Given the description of an element on the screen output the (x, y) to click on. 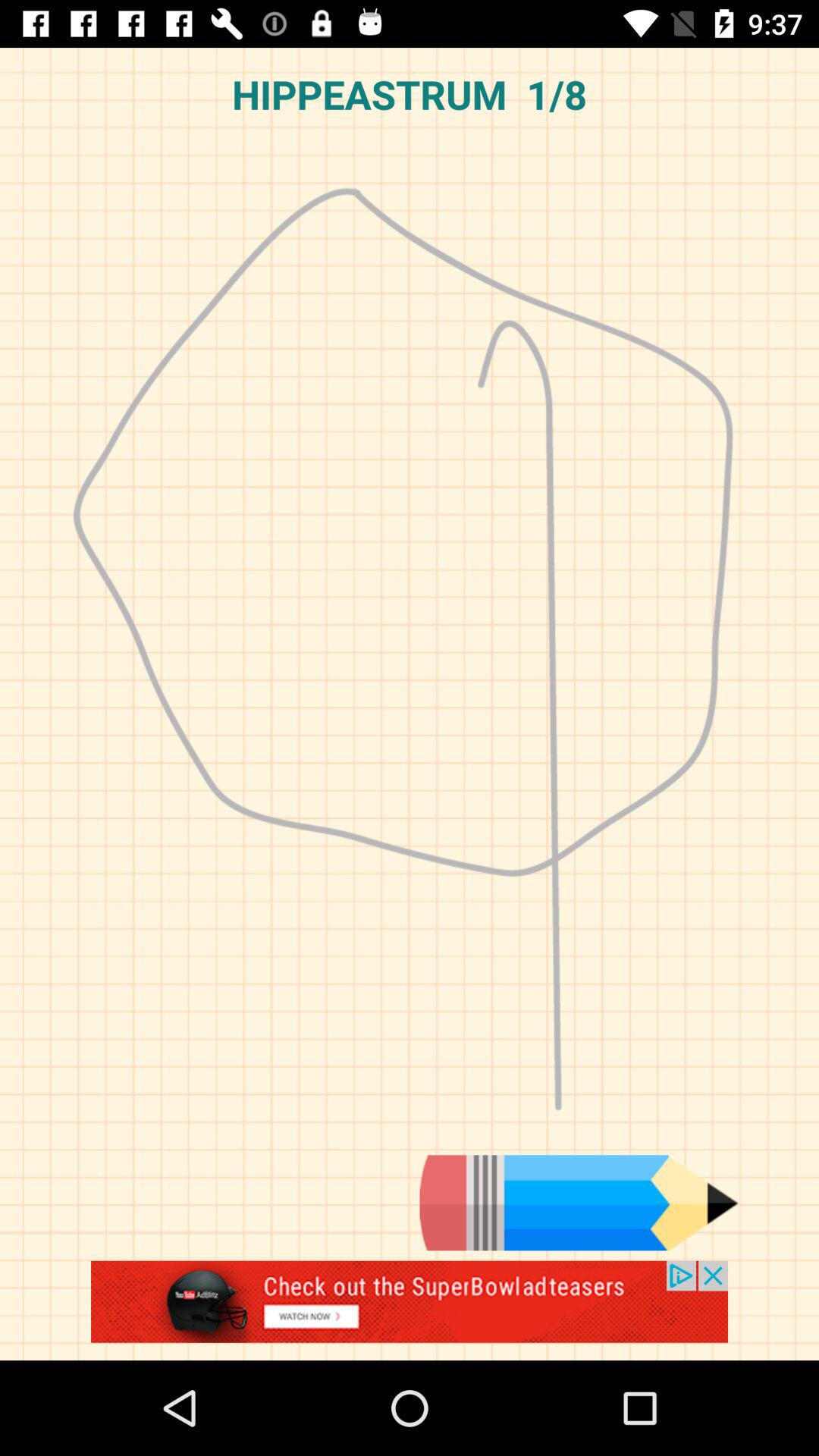
draw (578, 1202)
